Given the description of an element on the screen output the (x, y) to click on. 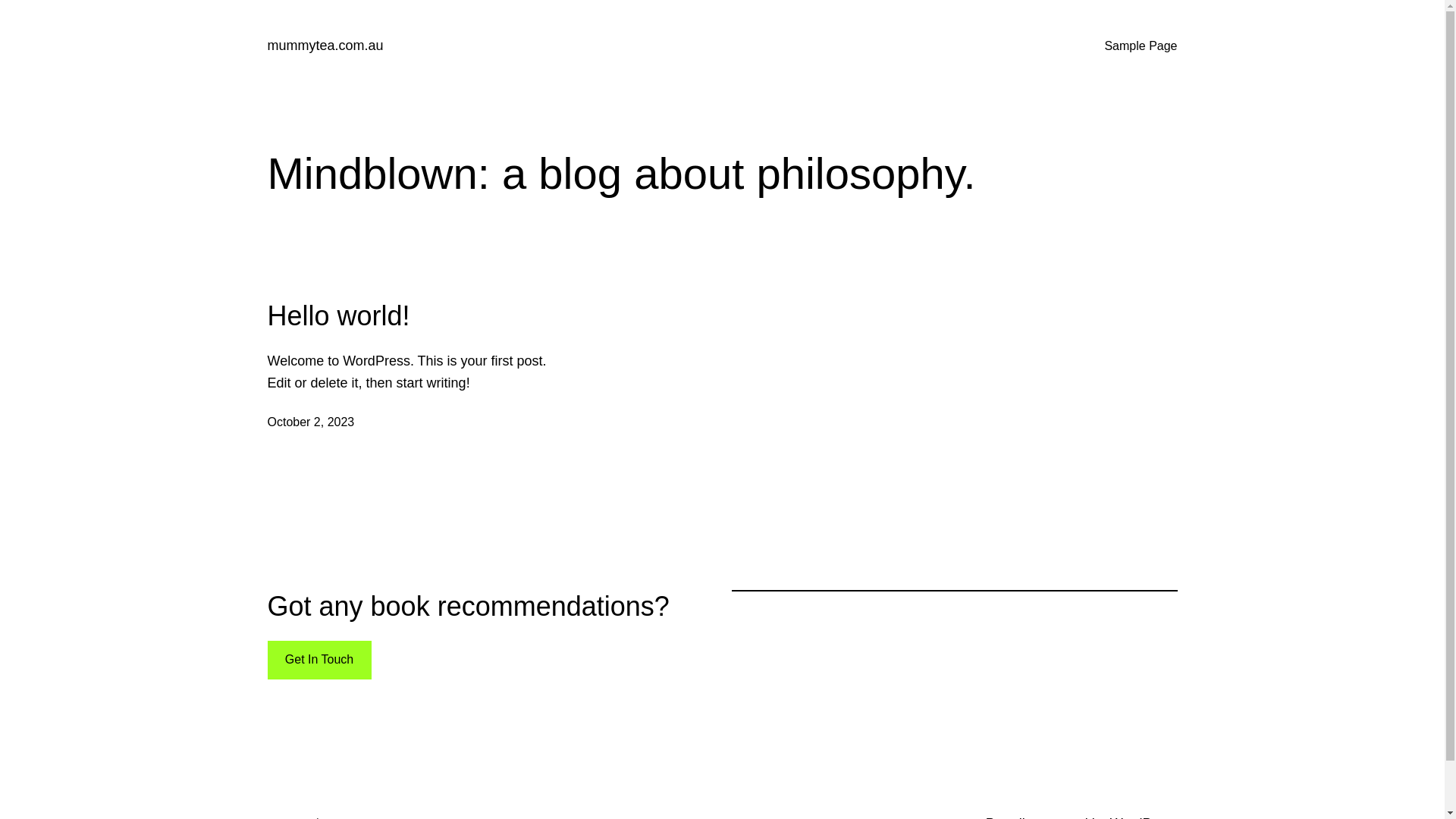
Sample Page Element type: text (1140, 46)
October 2, 2023 Element type: text (310, 421)
mummytea.com.au Element type: text (324, 45)
Hello world! Element type: text (337, 315)
Get In Touch Element type: text (318, 659)
